Given the description of an element on the screen output the (x, y) to click on. 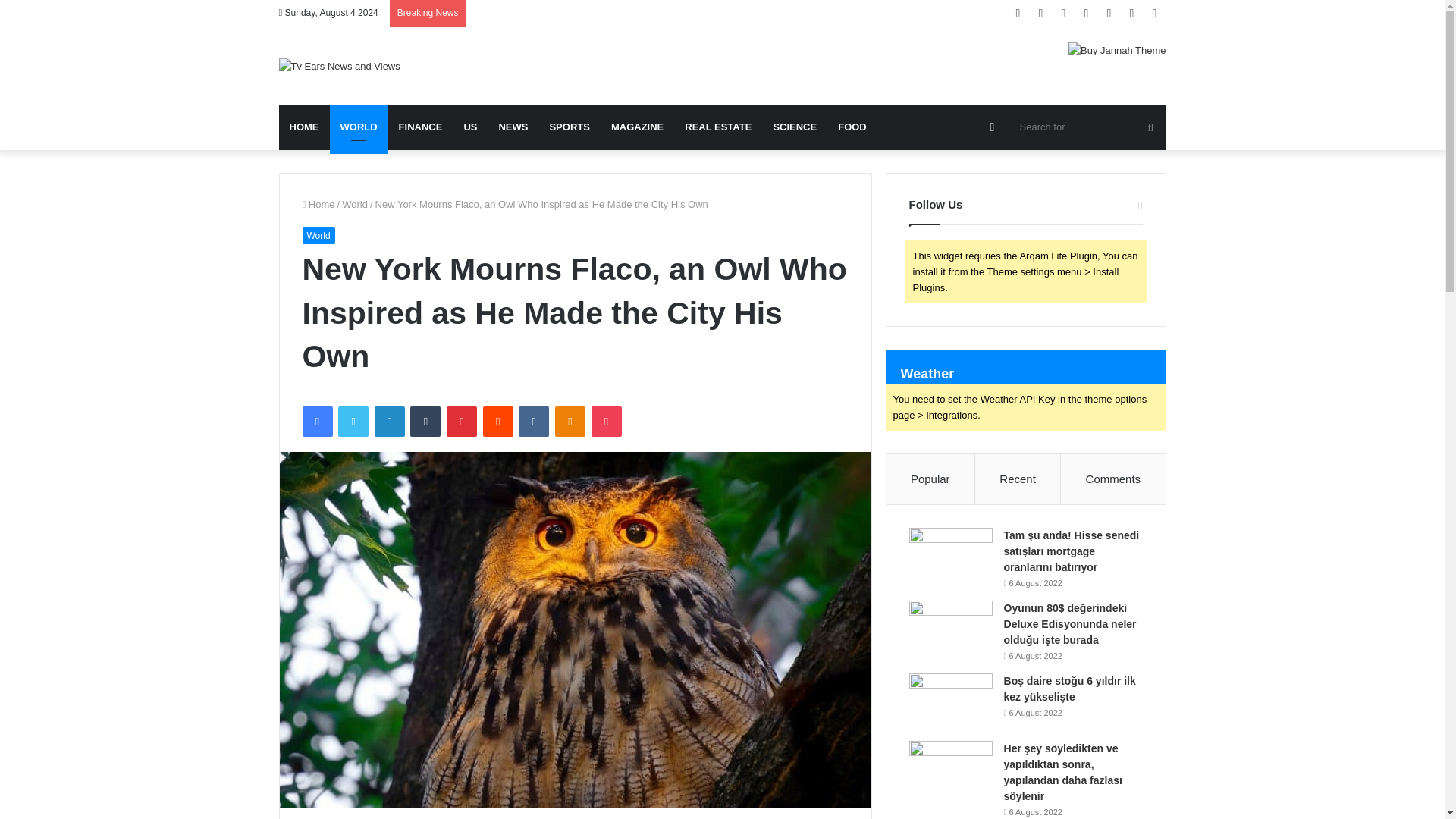
World (317, 235)
HOME (304, 126)
FOOD (852, 126)
Twitter (352, 421)
Reddit (498, 421)
NEWS (512, 126)
REAL ESTATE (717, 126)
Tumblr (425, 421)
Tumblr (425, 421)
Pocket (606, 421)
